Given the description of an element on the screen output the (x, y) to click on. 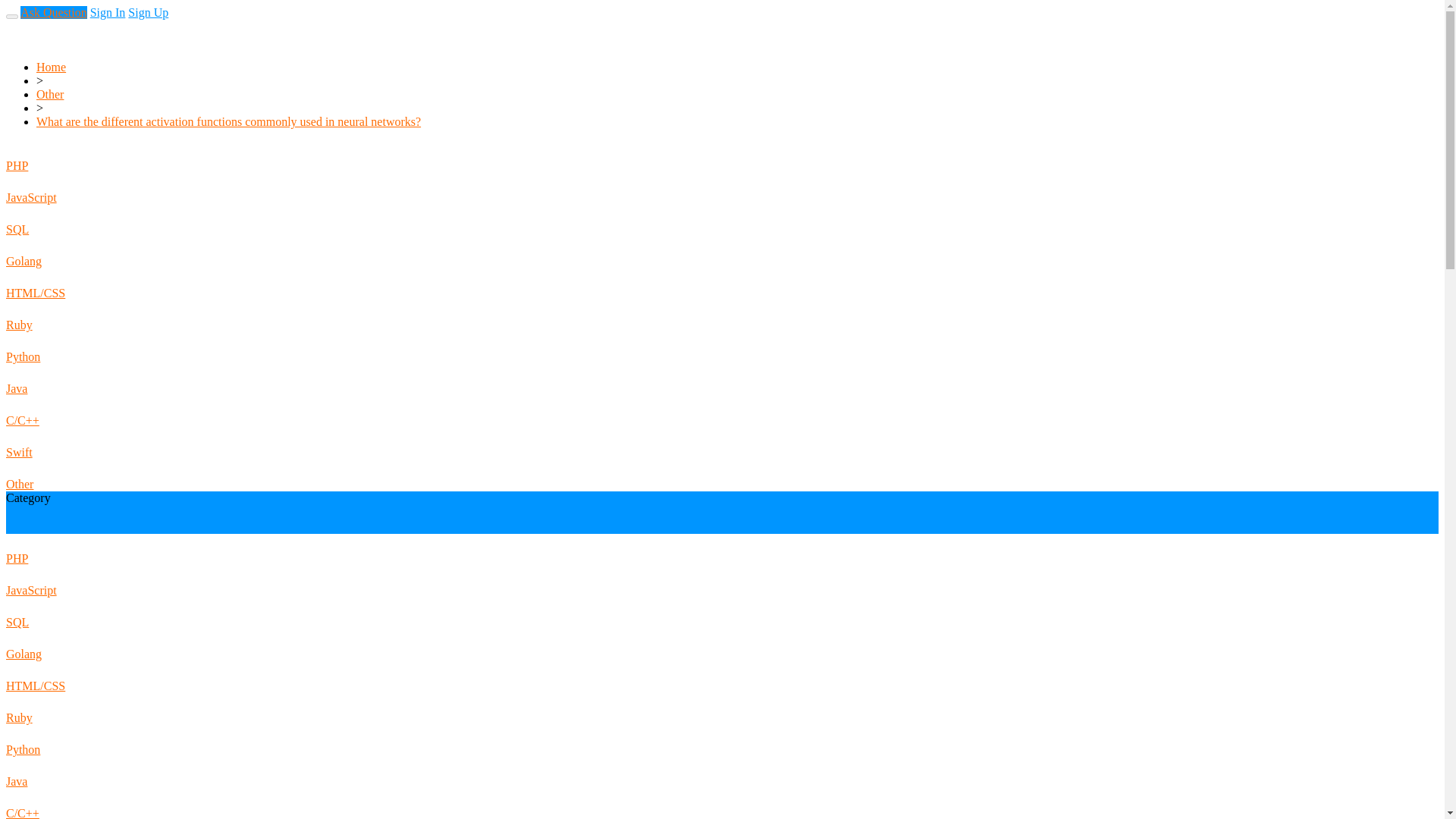
Home (50, 66)
Sign In (107, 11)
Sign Up (148, 11)
Ask Question (53, 11)
Other (50, 93)
